Given the description of an element on the screen output the (x, y) to click on. 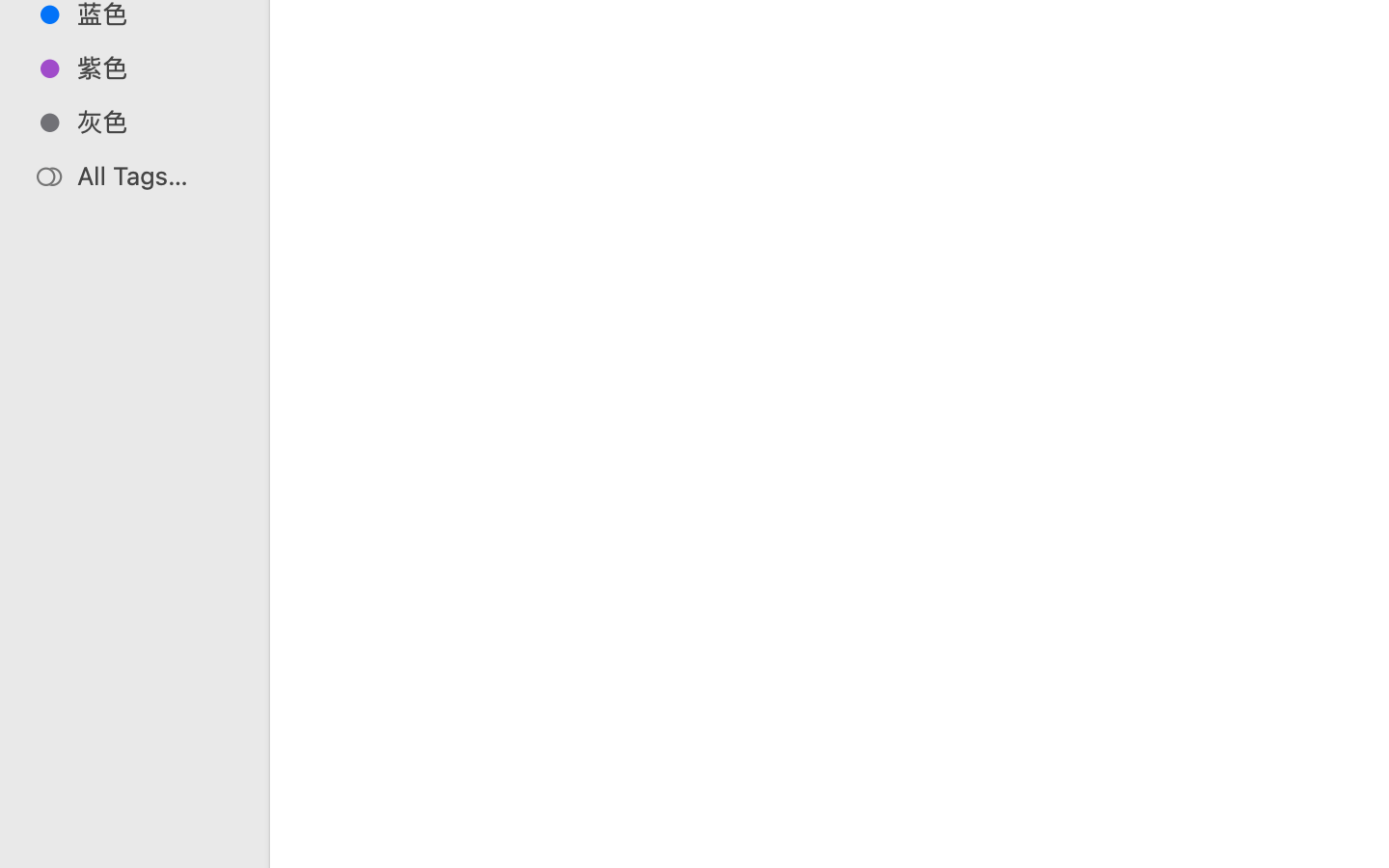
灰色 Element type: AXStaticText (155, 121)
